Given the description of an element on the screen output the (x, y) to click on. 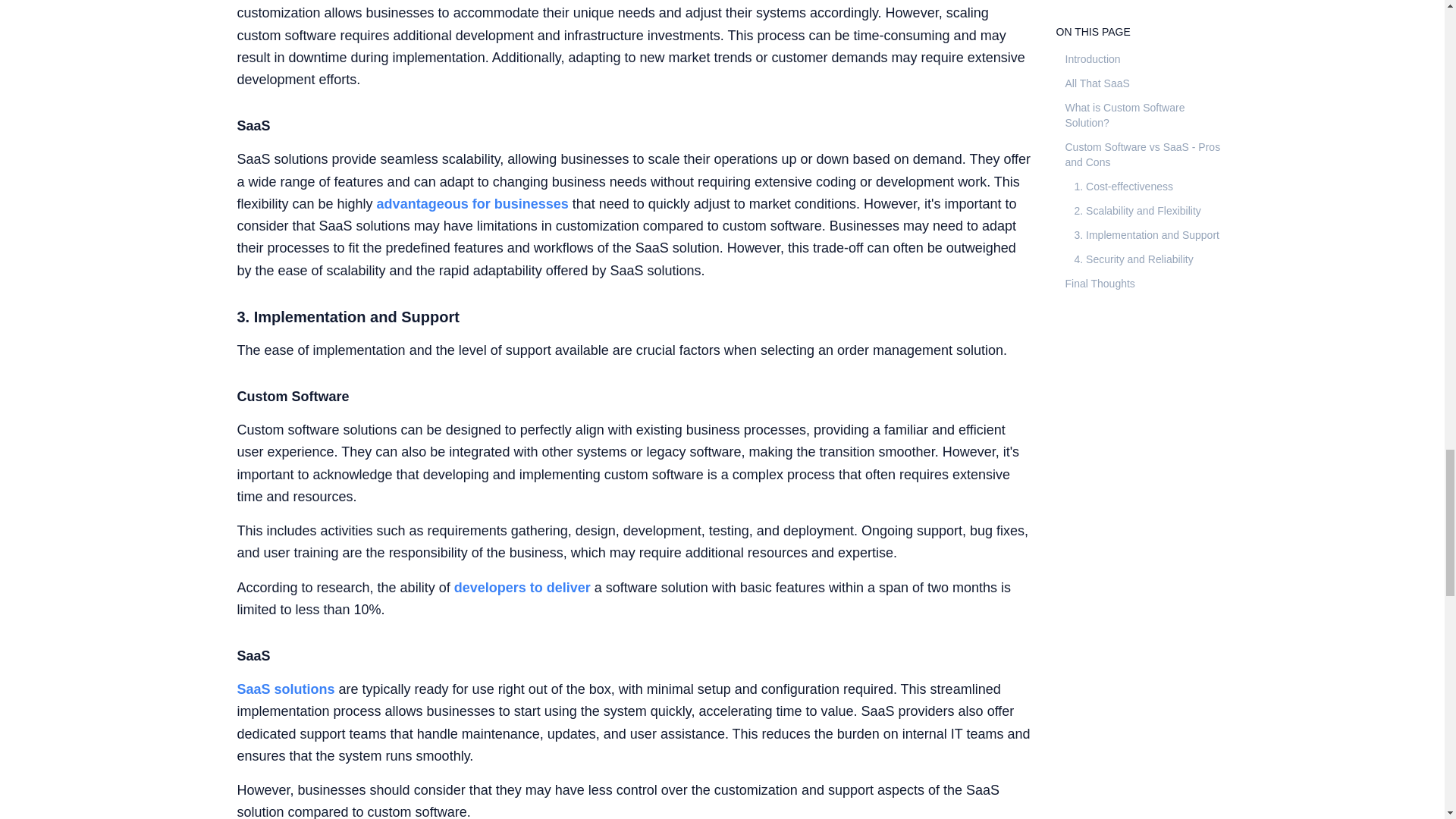
SaaS solutions (284, 688)
developers to deliver (522, 586)
advantageous for businesses (473, 203)
